Given the description of an element on the screen output the (x, y) to click on. 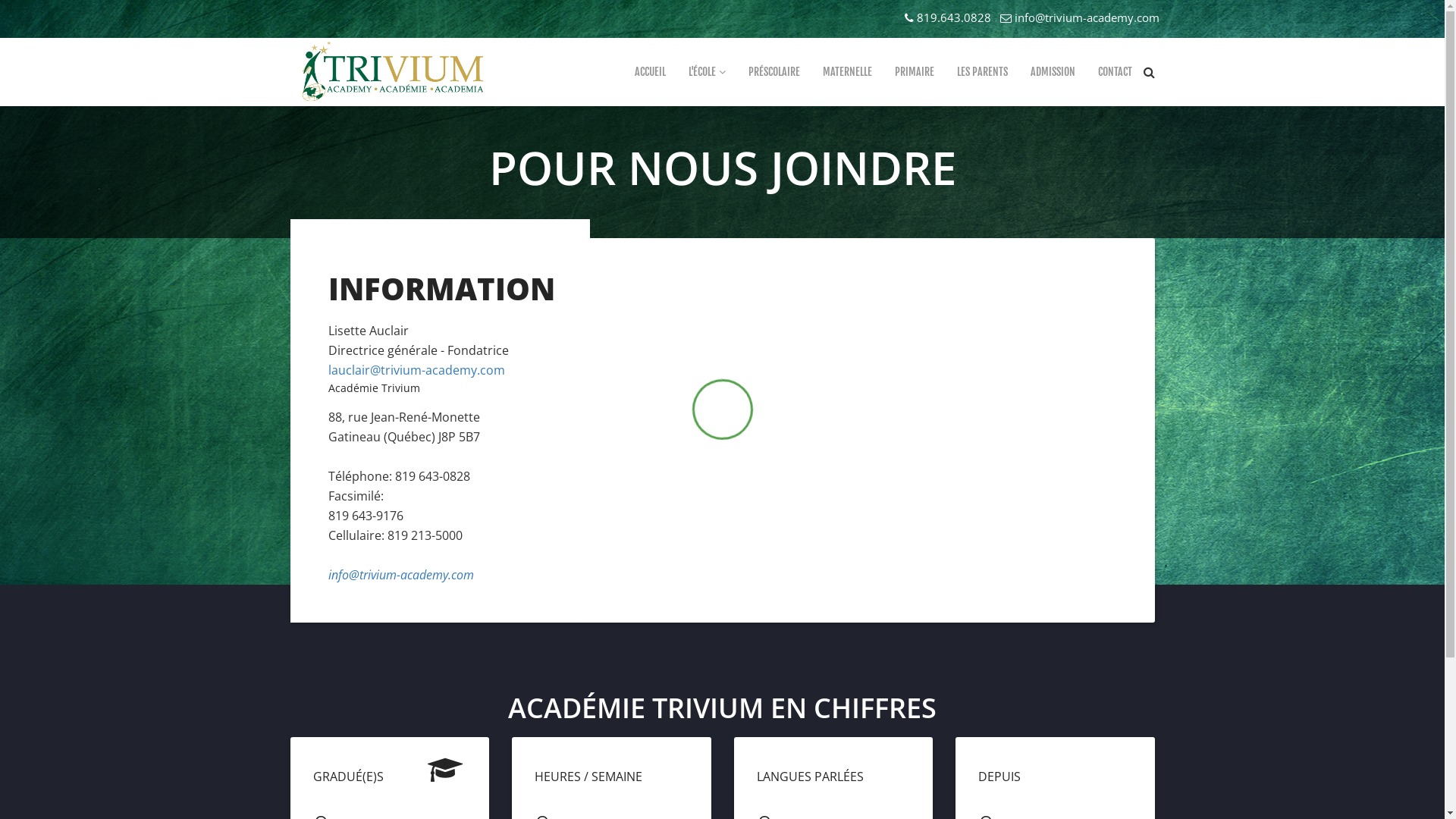
lauclair@trivium-academy.com Element type: text (415, 369)
CONTACT Element type: text (1113, 71)
PRIMAIRE Element type: text (913, 71)
ACCUEIL Element type: text (650, 71)
ADMISSION Element type: text (1052, 71)
LES PARENTS Element type: text (981, 71)
info@trivium-academy.com Element type: text (1086, 17)
MATERNELLE Element type: text (847, 71)
info@trivium-academy.com Element type: text (400, 574)
